Given the description of an element on the screen output the (x, y) to click on. 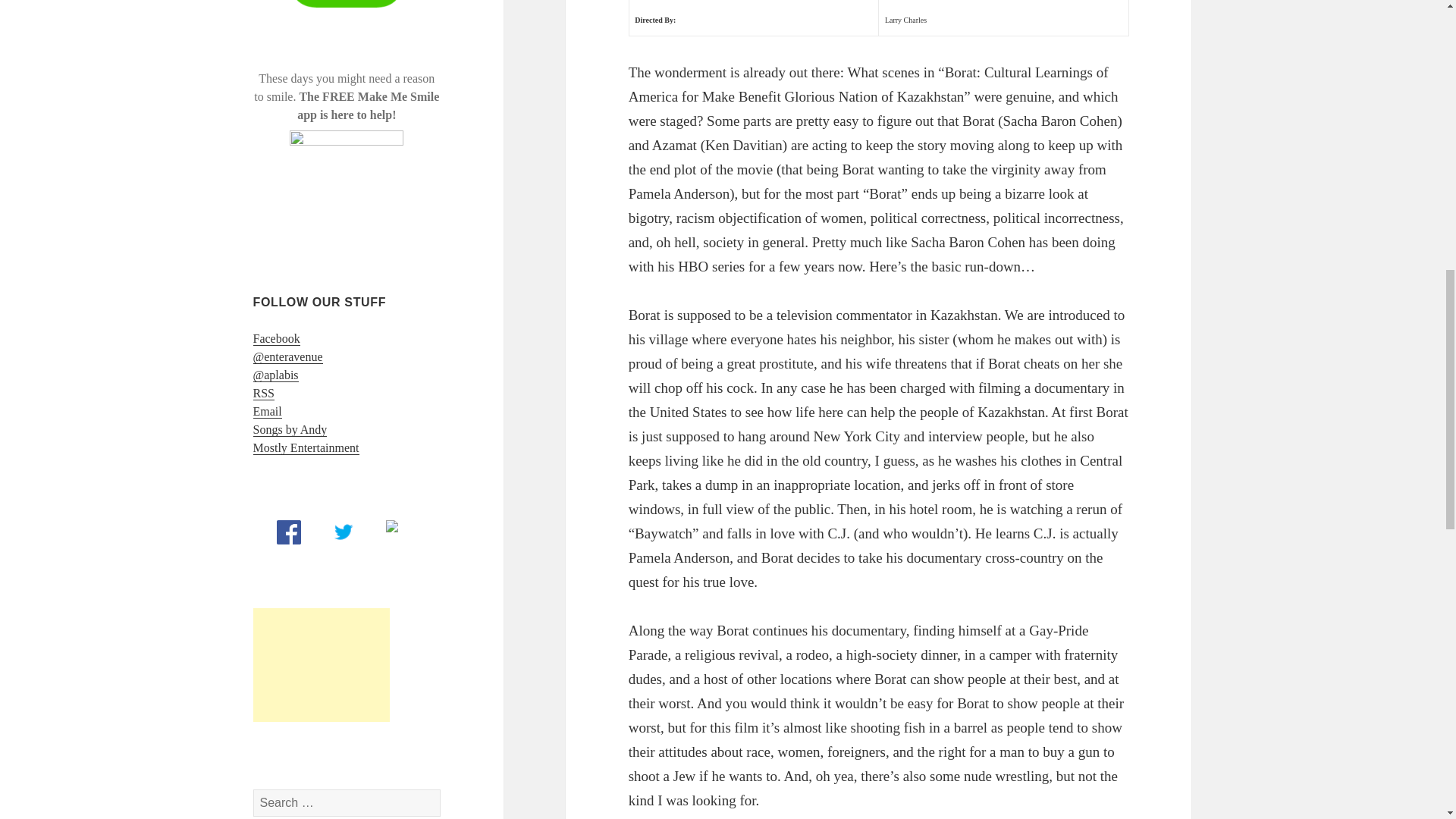
Subscribe to my feed (264, 393)
Email (267, 411)
RSS (264, 393)
Mostly Entertainment (306, 448)
Songs by Andy (290, 429)
Facebook (276, 338)
